Given the description of an element on the screen output the (x, y) to click on. 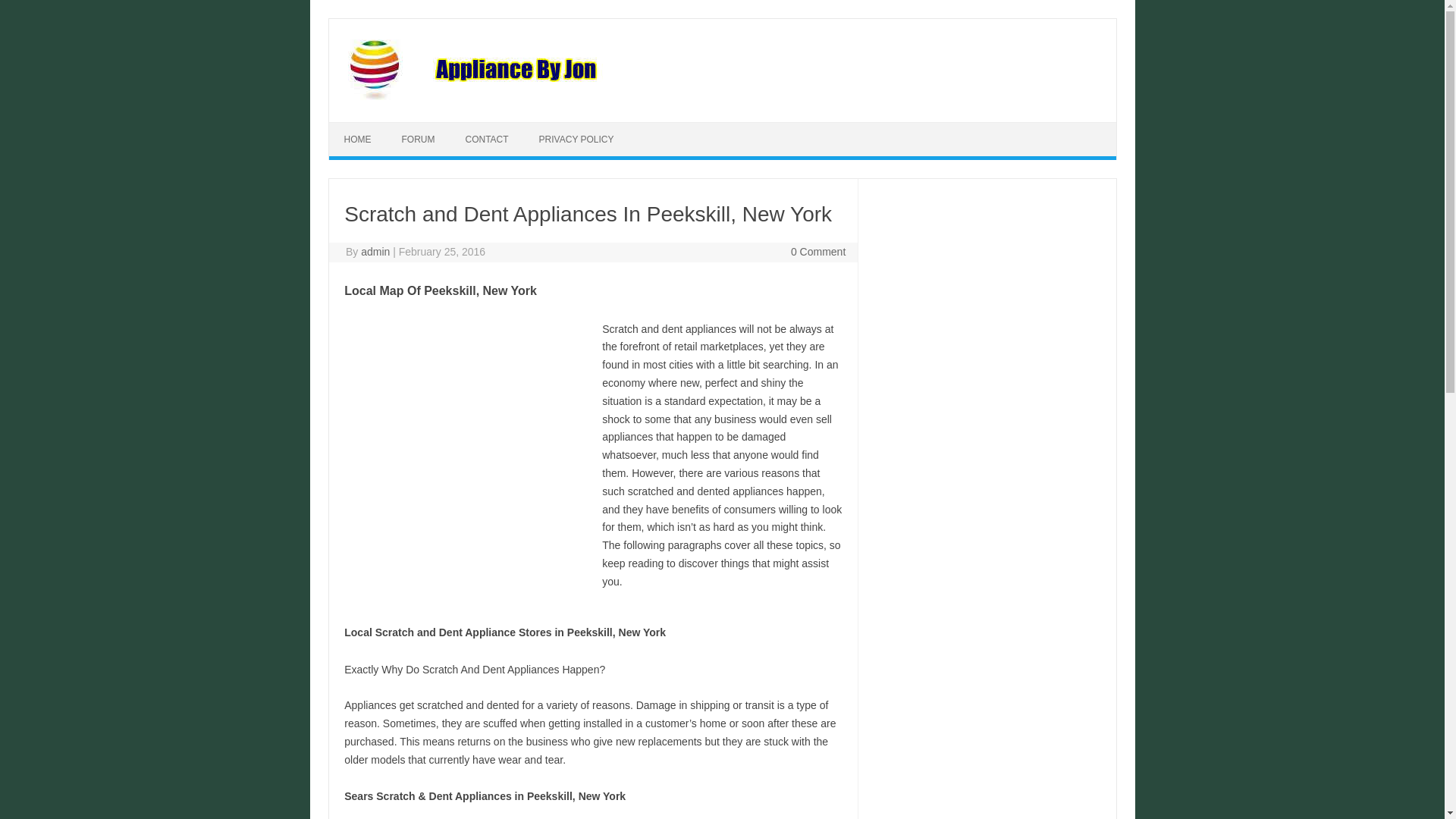
Appliance By Jon (568, 96)
Posts by admin (375, 251)
0 Comment (817, 251)
PRIVACY POLICY (576, 139)
HOME (358, 139)
CONTACT (486, 139)
admin (375, 251)
FORUM (418, 139)
